Given the description of an element on the screen output the (x, y) to click on. 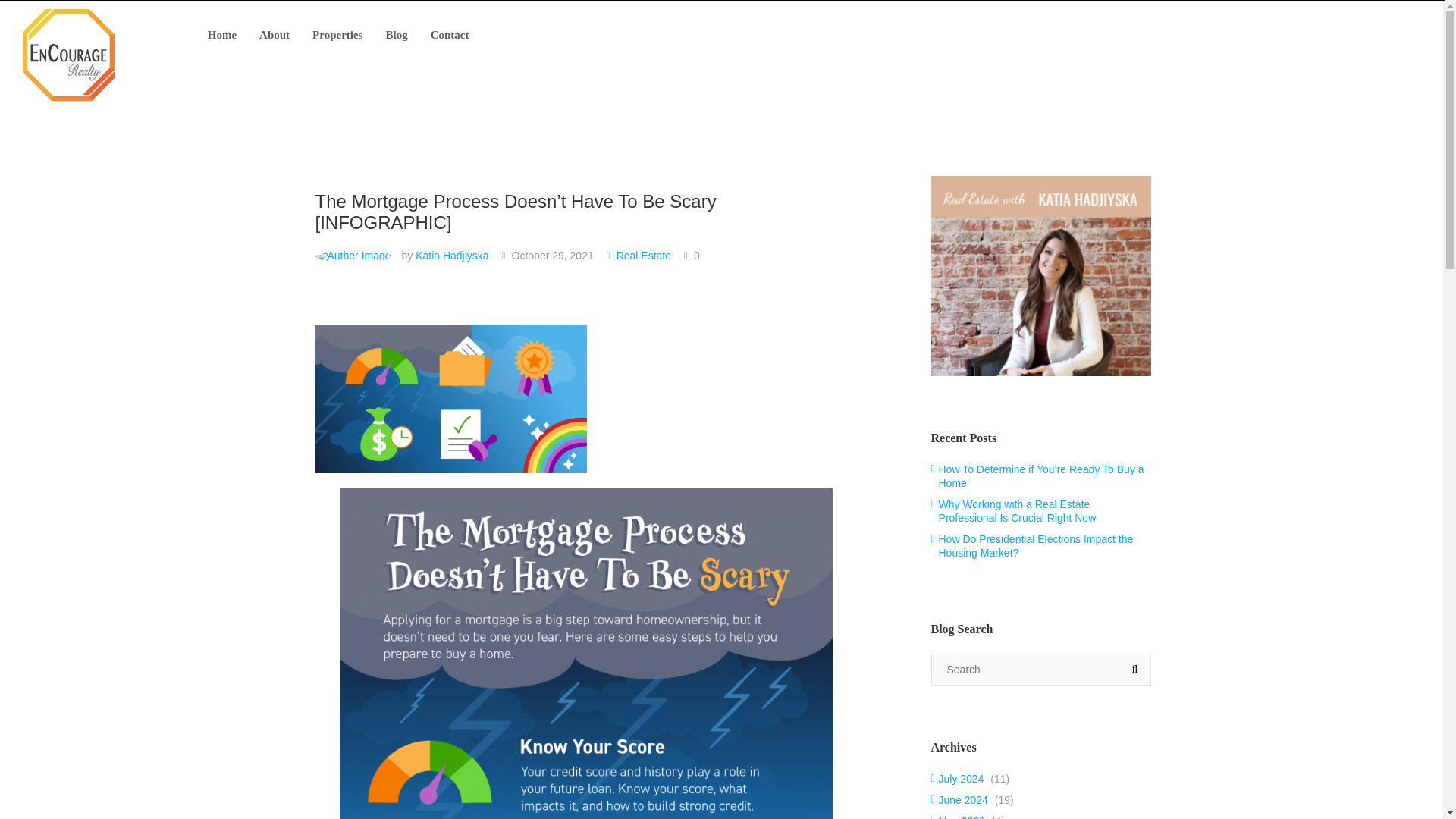
About (274, 34)
Blog (396, 34)
Katia Hadjiyska (451, 255)
Properties (337, 34)
Home (221, 34)
Contact (449, 34)
How Do Presidential Elections Impact the Housing Market? (1032, 545)
Real Estate (643, 255)
